Given the description of an element on the screen output the (x, y) to click on. 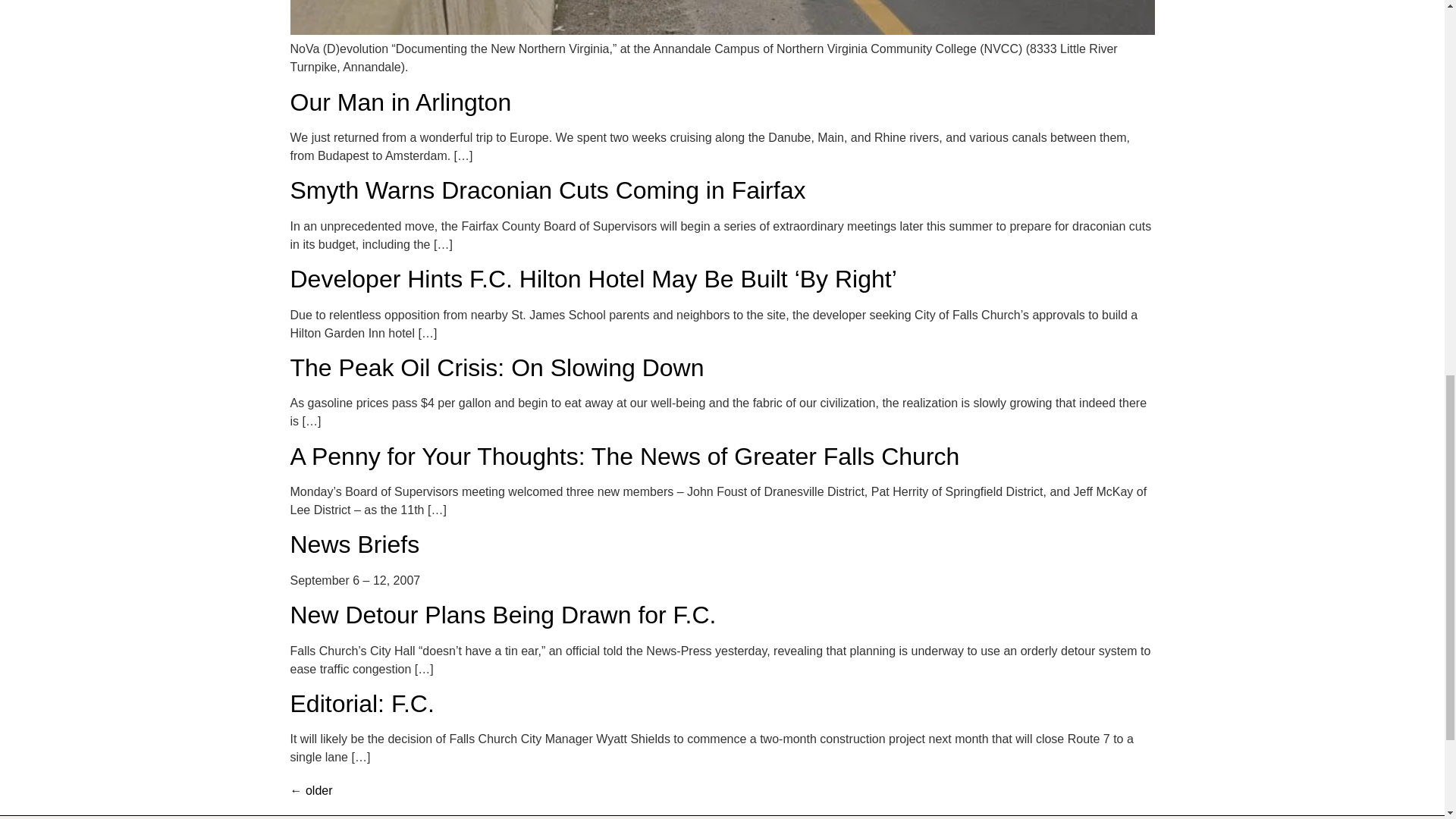
A Penny for Your Thoughts: The News of Greater Falls Church (624, 456)
Editorial: F.C. (361, 703)
Smyth Warns Draconian Cuts Coming in Fairfax (547, 189)
New Detour Plans Being Drawn for F.C. (502, 614)
News Briefs (354, 543)
The Peak Oil Crisis: On Slowing Down (496, 367)
Our Man in Arlington (400, 102)
